Given the description of an element on the screen output the (x, y) to click on. 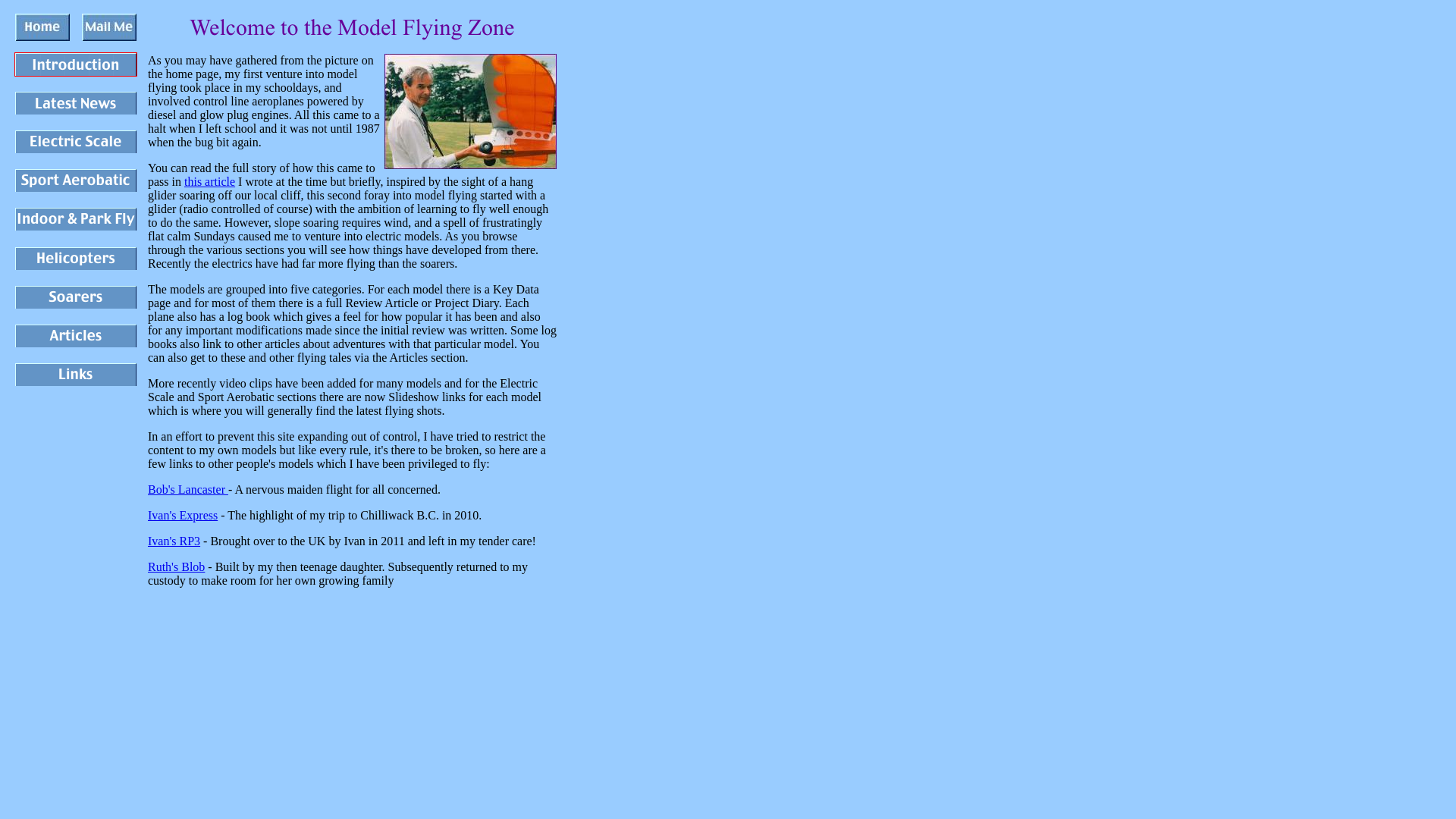
Bob's Lancaster (188, 489)
Ivan's Express (182, 514)
Ruth's Blob (176, 566)
this article (209, 181)
Ivan's RP3 (174, 540)
